Given the description of an element on the screen output the (x, y) to click on. 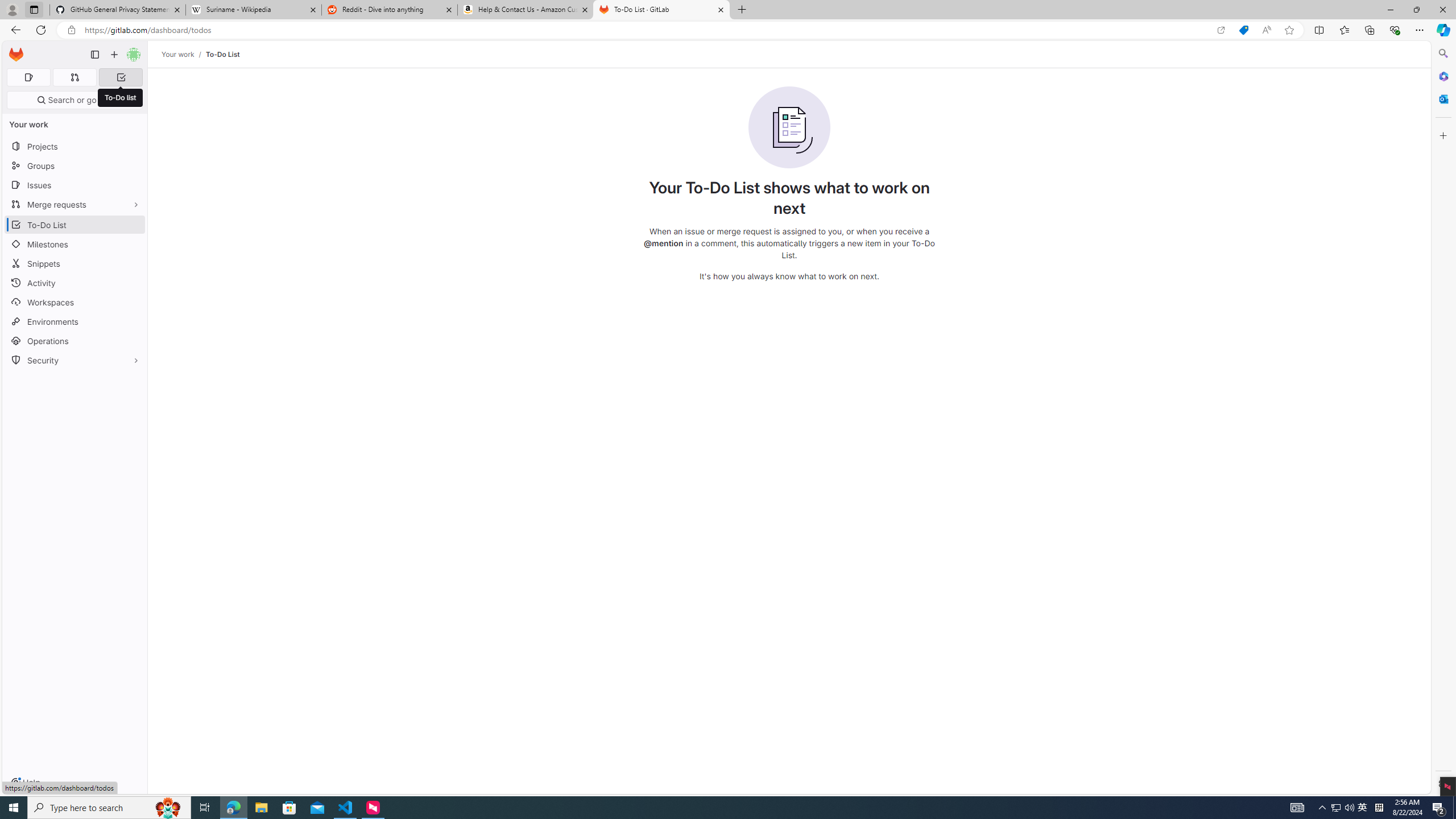
Groups (74, 165)
Assigned issues 0 (28, 76)
GitHub General Privacy Statement - GitHub Docs (117, 9)
Merge requests (74, 203)
Suriname - Wikipedia (253, 9)
Snippets (74, 262)
